Given the description of an element on the screen output the (x, y) to click on. 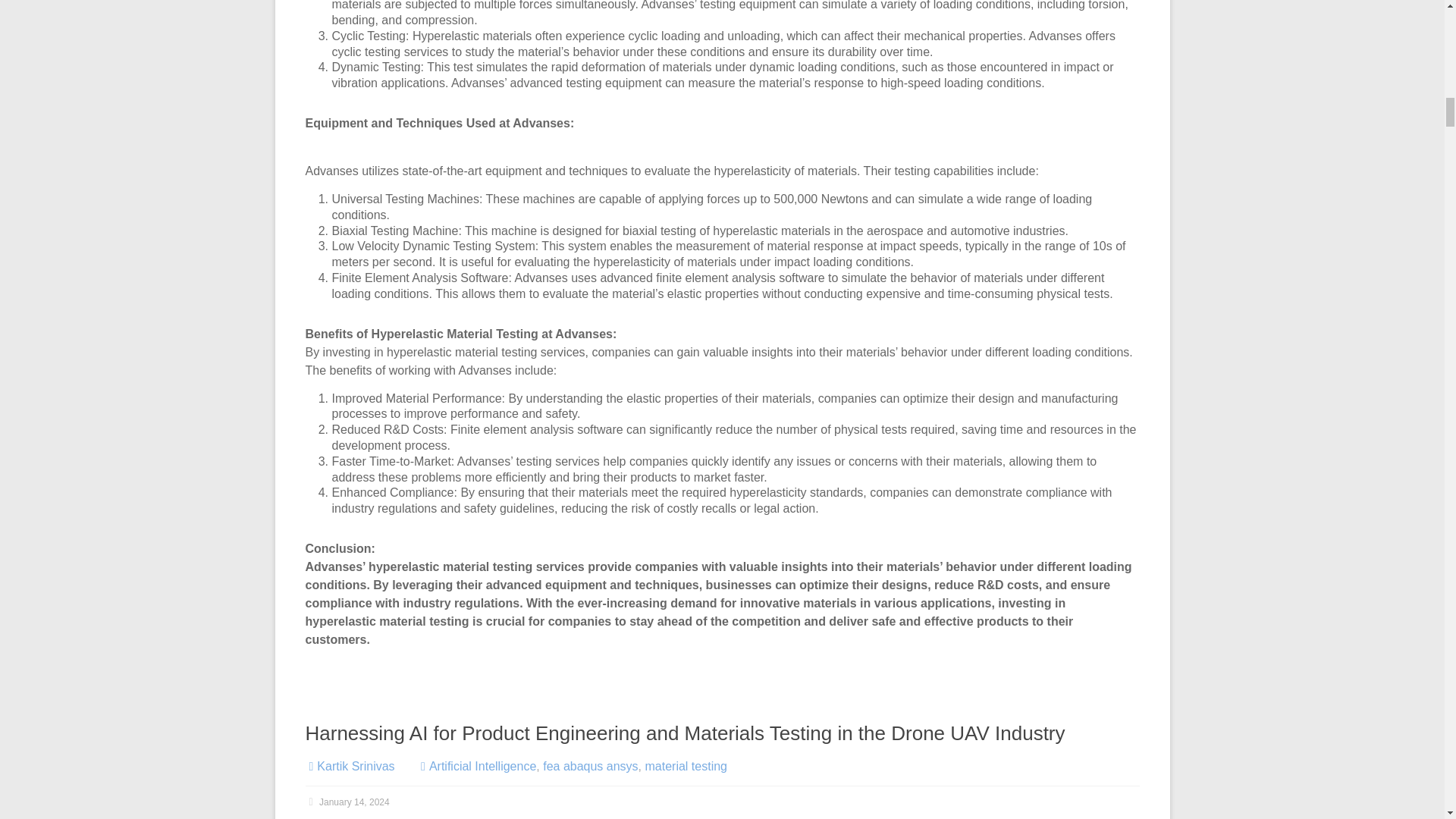
Kartik Srinivas (355, 766)
1:17 am (346, 801)
